Given the description of an element on the screen output the (x, y) to click on. 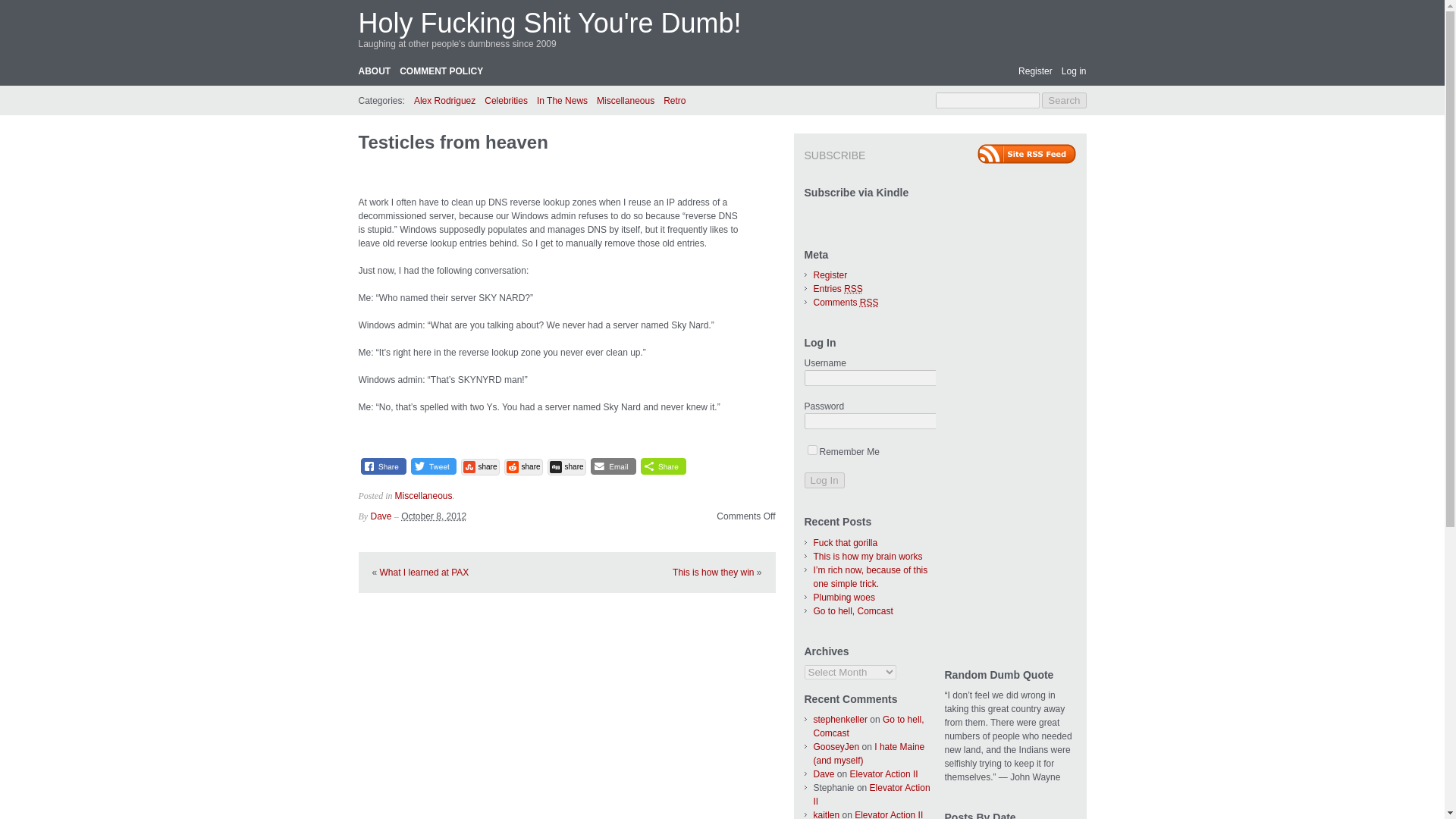
Testicles from heaven (452, 141)
Comments RSS (844, 302)
Go to hell, Comcast (852, 611)
Retro (674, 100)
ABOUT (374, 70)
This is how my brain works (866, 556)
Register (1034, 70)
stephenkeller (839, 719)
Go to hell, Comcast (867, 726)
Log In (823, 480)
Dave (823, 774)
Log In (823, 480)
Fuck that gorilla (844, 542)
COMMENT POLICY (440, 70)
Search (1064, 100)
